Given the description of an element on the screen output the (x, y) to click on. 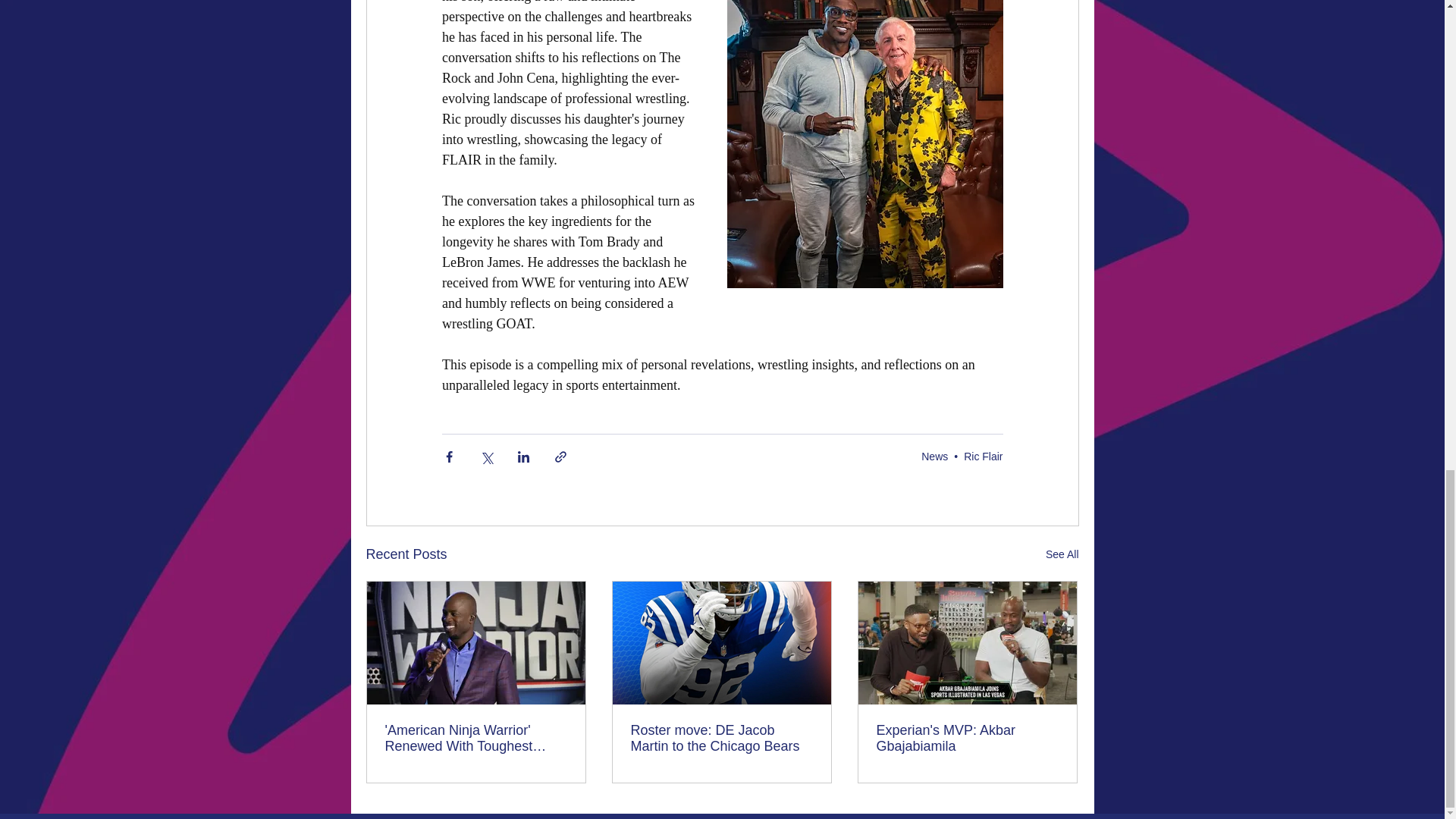
News (934, 456)
See All (1061, 554)
Roster move: DE Jacob Martin to the Chicago Bears (721, 738)
Ric Flair (983, 456)
Experian's MVP: Akbar Gbajabiamila (967, 738)
